Given the description of an element on the screen output the (x, y) to click on. 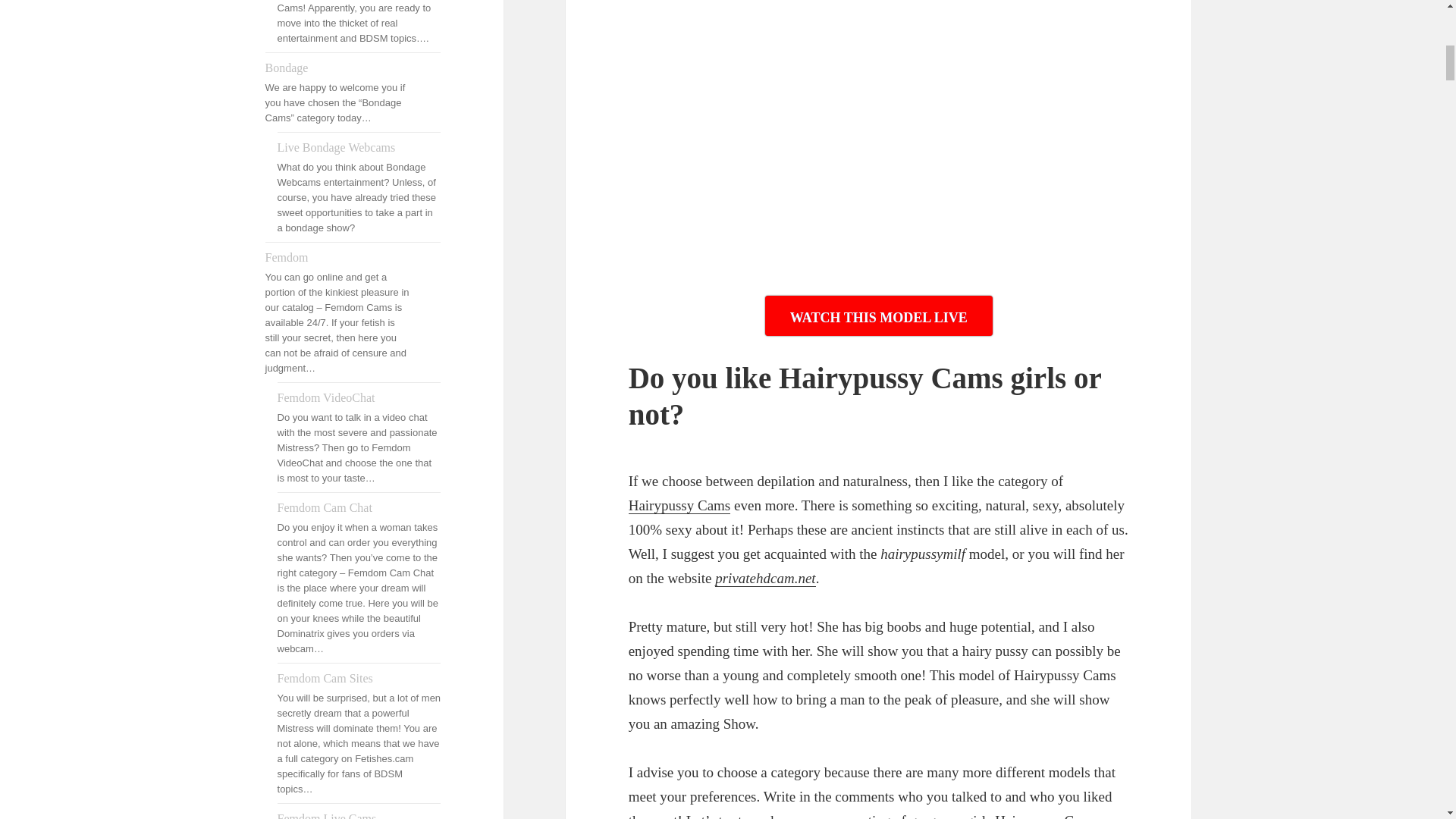
Hairypussy Cams (679, 505)
Old WLs Redirections (764, 578)
